Given the description of an element on the screen output the (x, y) to click on. 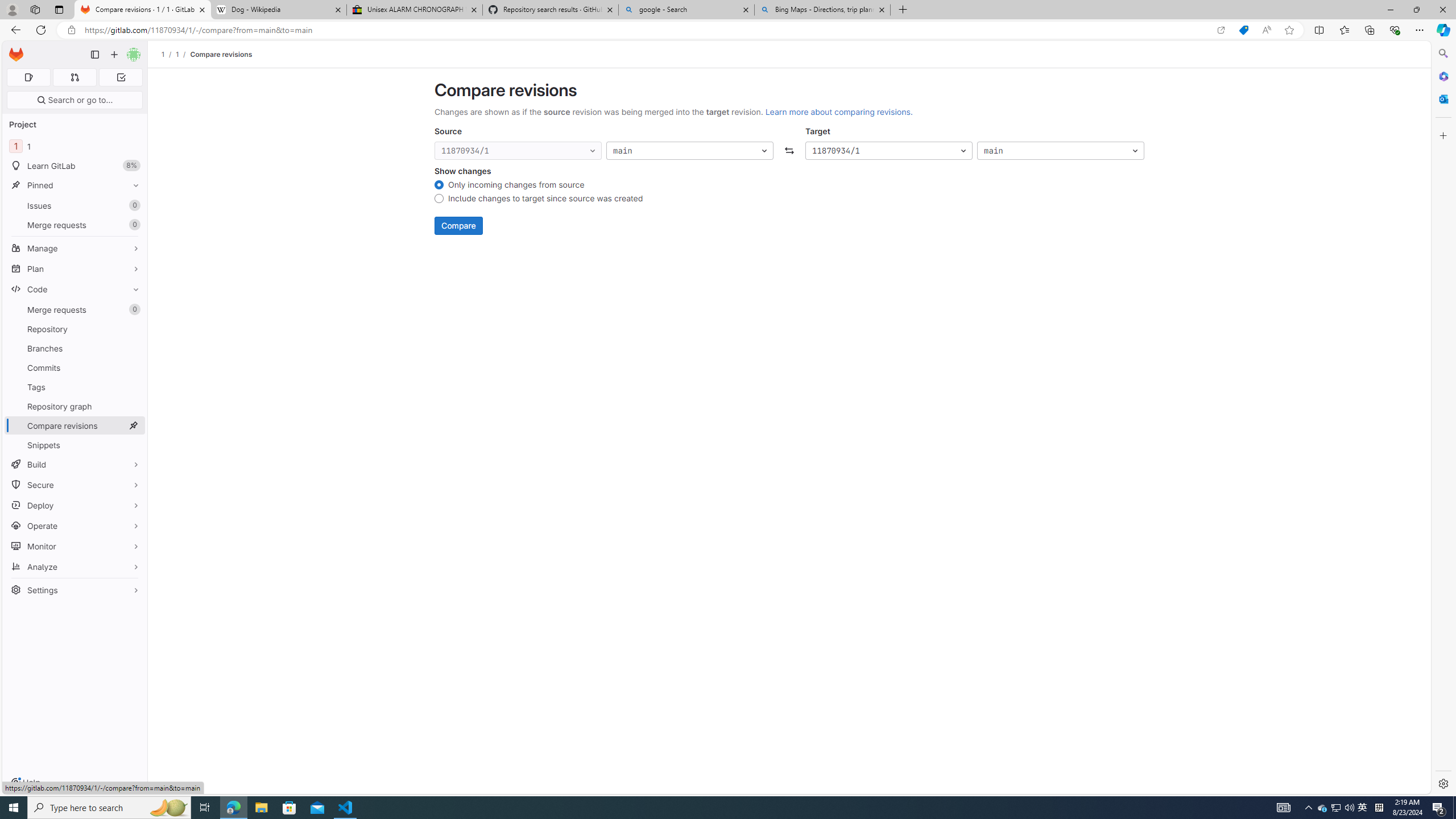
Build (74, 464)
Secure (74, 484)
Plan (74, 268)
Merge requests0 (74, 309)
Repository (74, 328)
Operate (74, 525)
Snippets (74, 444)
Build (74, 464)
